Given the description of an element on the screen output the (x, y) to click on. 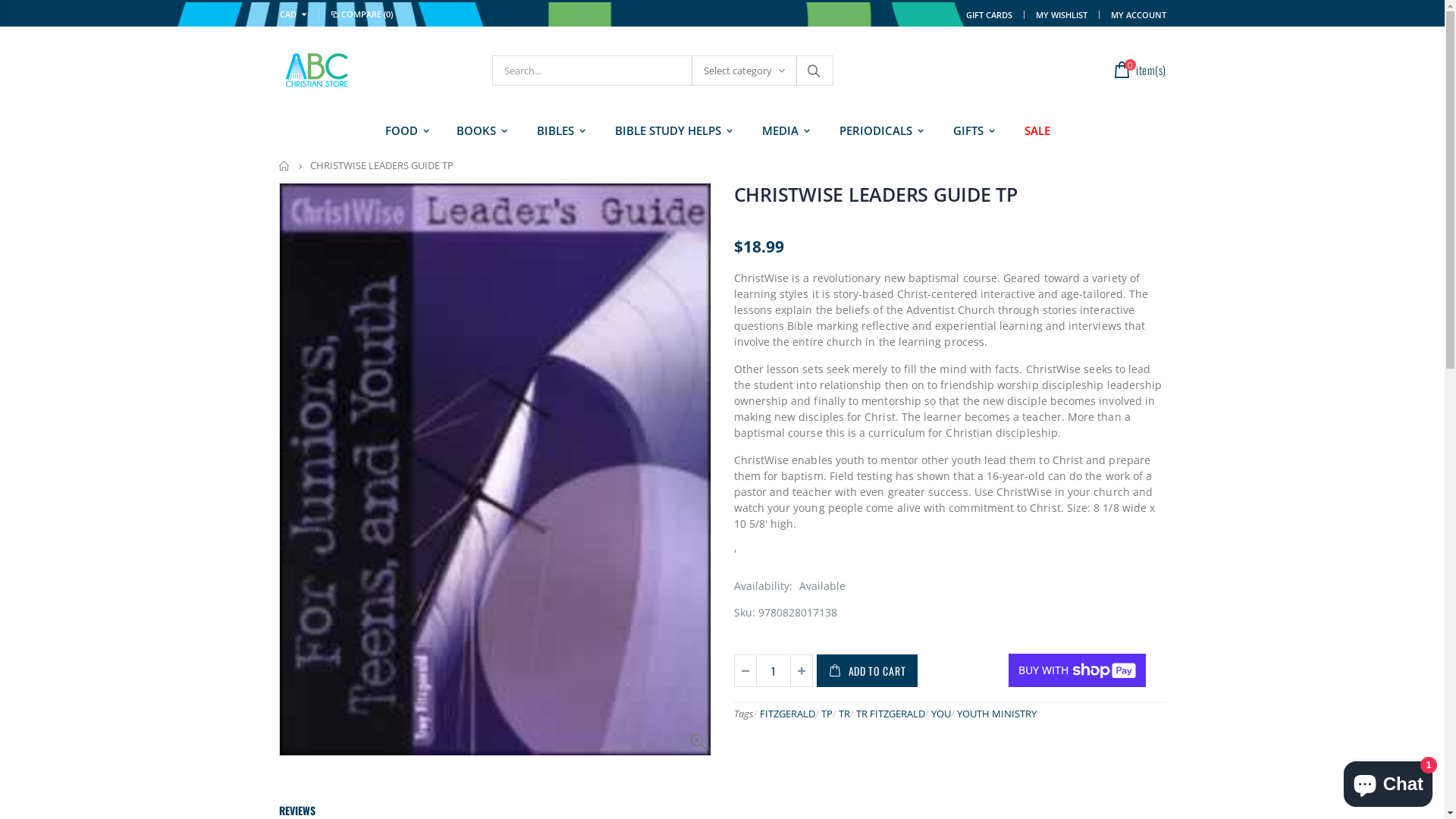
GIFT CARDS Element type: text (989, 13)
YOU Element type: text (940, 713)
YOUTH MINISTRY Element type: text (996, 713)
MEDIA Element type: text (782, 130)
TR FITZGERALD Element type: text (889, 713)
GIFTS Element type: text (970, 130)
BOOKS Element type: text (479, 130)
TP Element type: text (825, 713)
CHRISTWISE LEADERS GUIDE TP Element type: text (875, 194)
SALE Element type: text (1036, 130)
TR Element type: text (844, 713)
Home Element type: text (284, 165)
BIBLE STUDY HELPS Element type: text (670, 130)
BIBLES Element type: text (558, 130)
0
item(s) Element type: text (1136, 68)
Shopify online store chat Element type: hover (1388, 780)
FOOD Element type: text (404, 130)
PERIODICALS Element type: text (878, 130)
ADD TO CART Element type: text (866, 670)
Search Element type: text (814, 70)
CAD Element type: text (295, 14)
MY WISHLIST Element type: text (1061, 13)
COMPARE (0) Element type: text (361, 14)
Select category Element type: text (744, 70)
MY ACCOUNT Element type: text (1137, 13)
FITZGERALD Element type: text (787, 713)
